Given the description of an element on the screen output the (x, y) to click on. 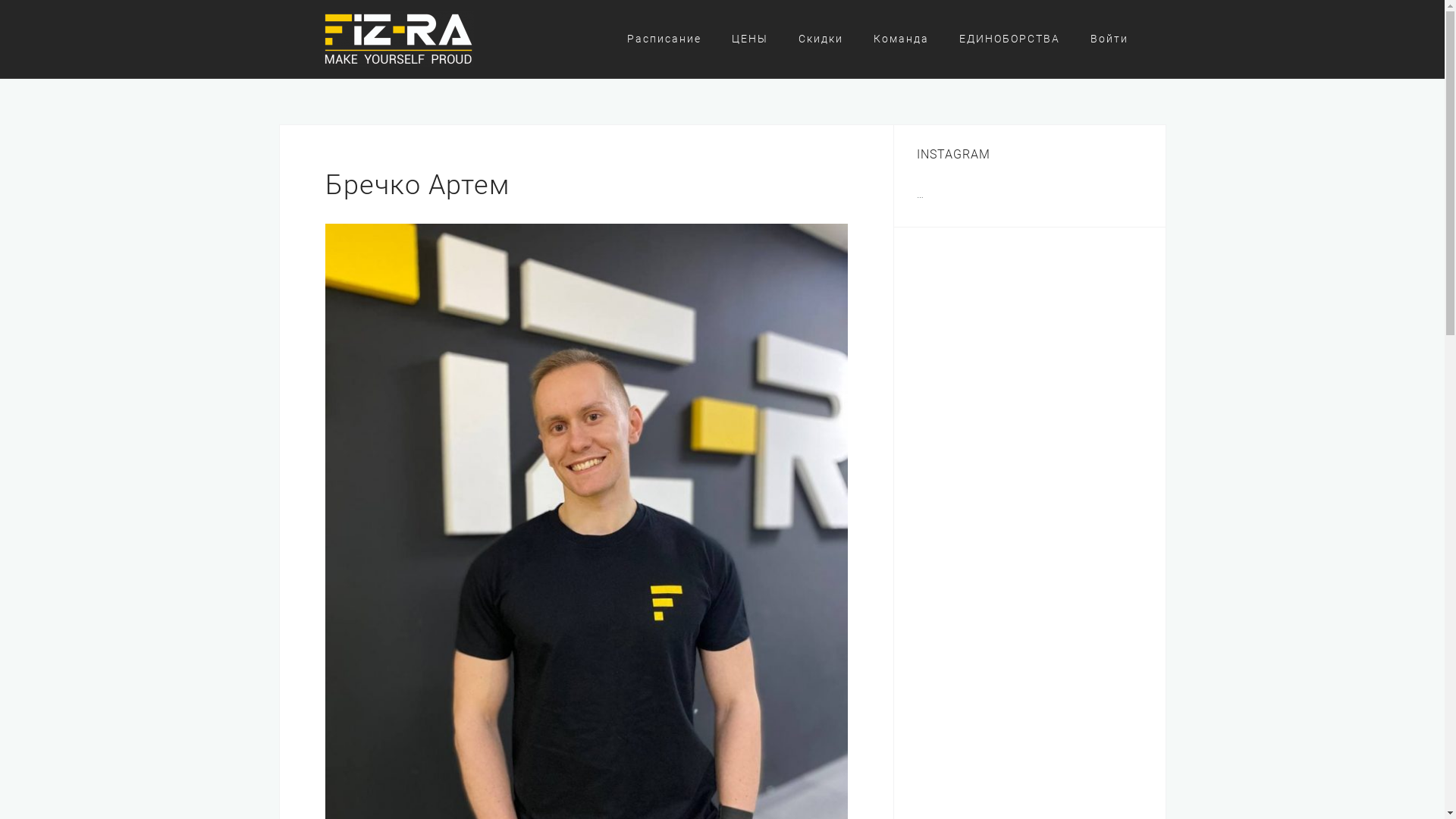
Skip to content Element type: text (0, 0)
